Given the description of an element on the screen output the (x, y) to click on. 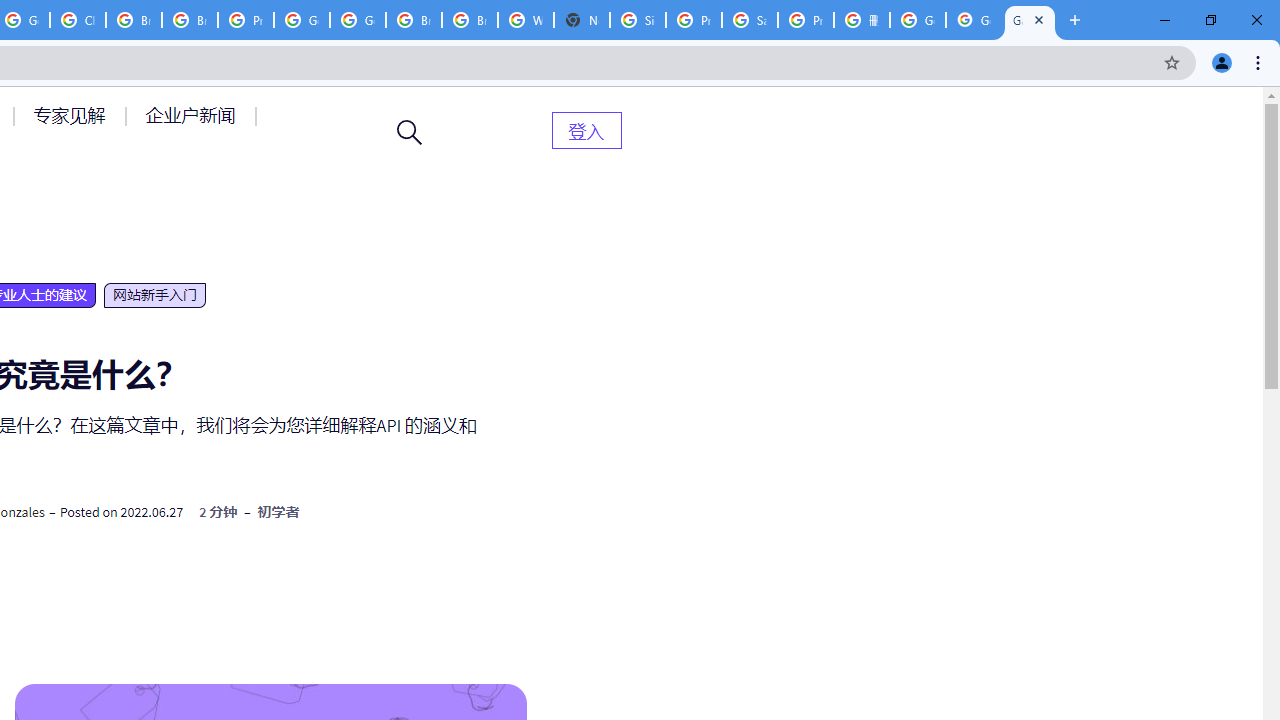
New Tab (582, 20)
AutomationID: menu-item-77765 (194, 115)
